Given the description of an element on the screen output the (x, y) to click on. 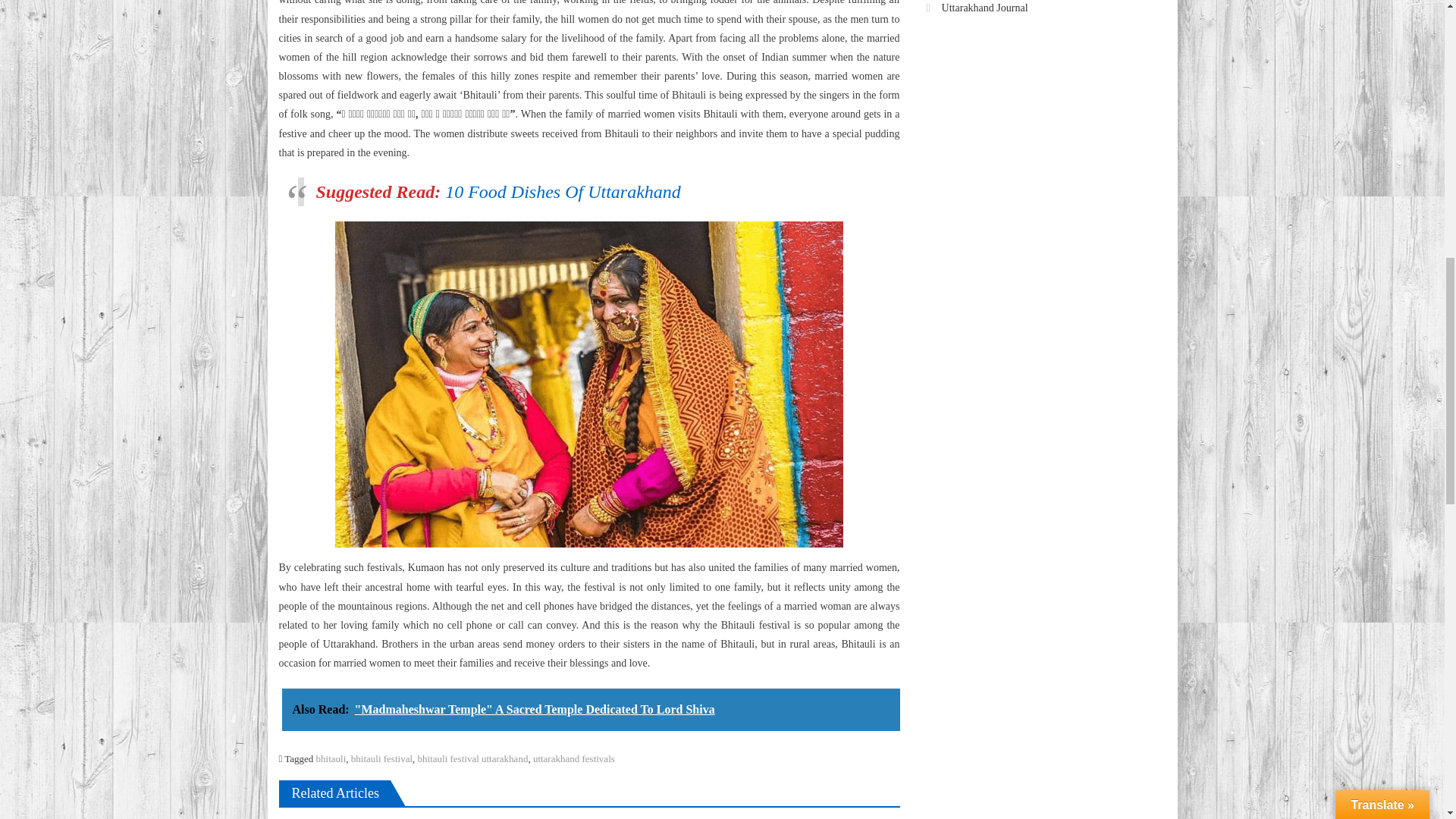
bhitauli (330, 758)
10 Food Dishes Of Uttarakhand (563, 191)
uttarakhand festivals (573, 758)
bhitauli festival uttarakhand (472, 758)
bhitauli festival (381, 758)
